Given the description of an element on the screen output the (x, y) to click on. 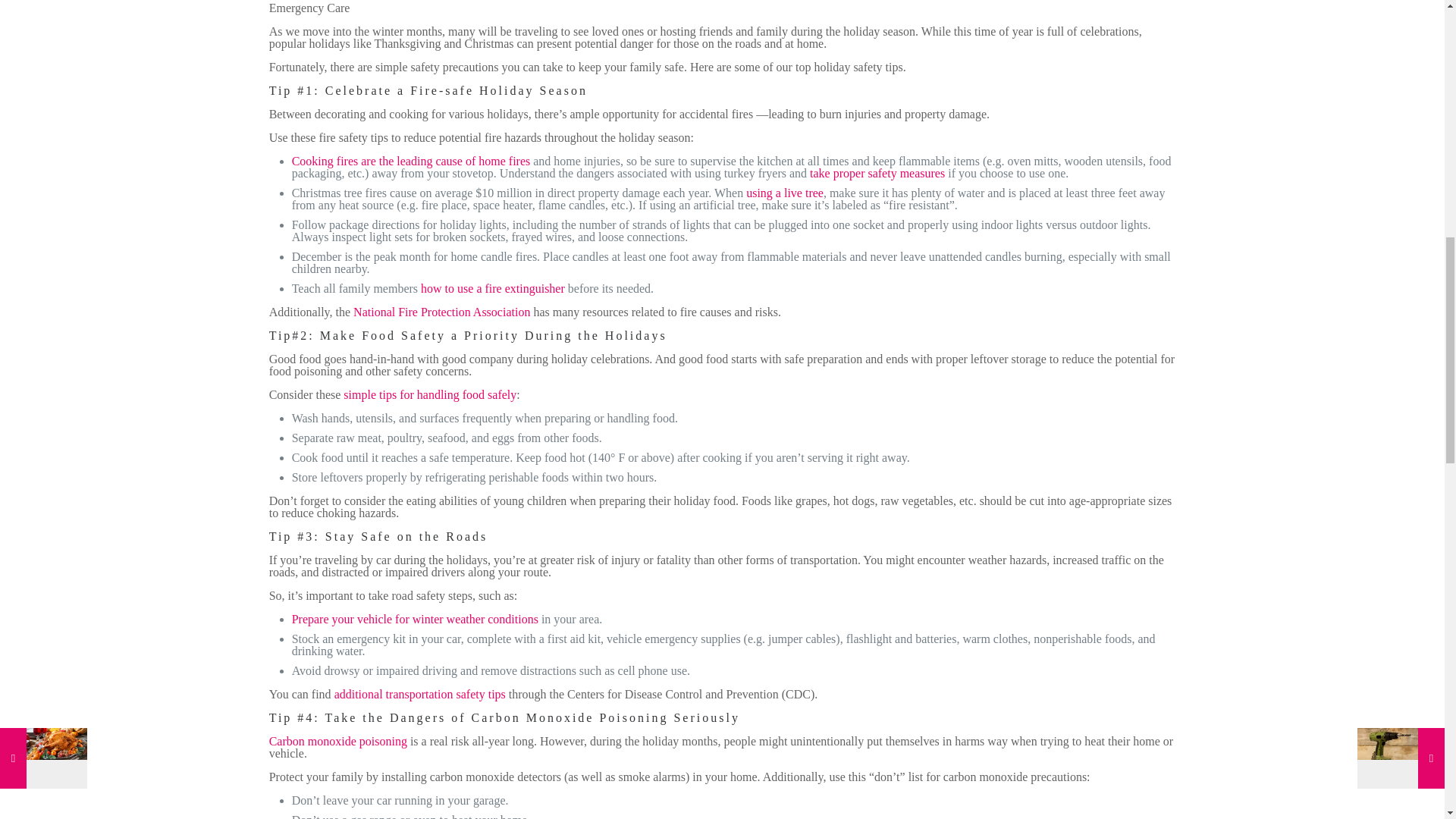
Carbon monoxide poisoning (338, 740)
Cooking fires are the leading cause of home fires (411, 160)
using a live tree (784, 192)
simple tips for handling food safely (429, 394)
additional transportation safety tips (419, 694)
Prepare your vehicle for winter weather conditions (415, 618)
take proper safety measures (876, 173)
how to use a fire extinguisher (492, 287)
National Fire Protection Association (441, 311)
